Given the description of an element on the screen output the (x, y) to click on. 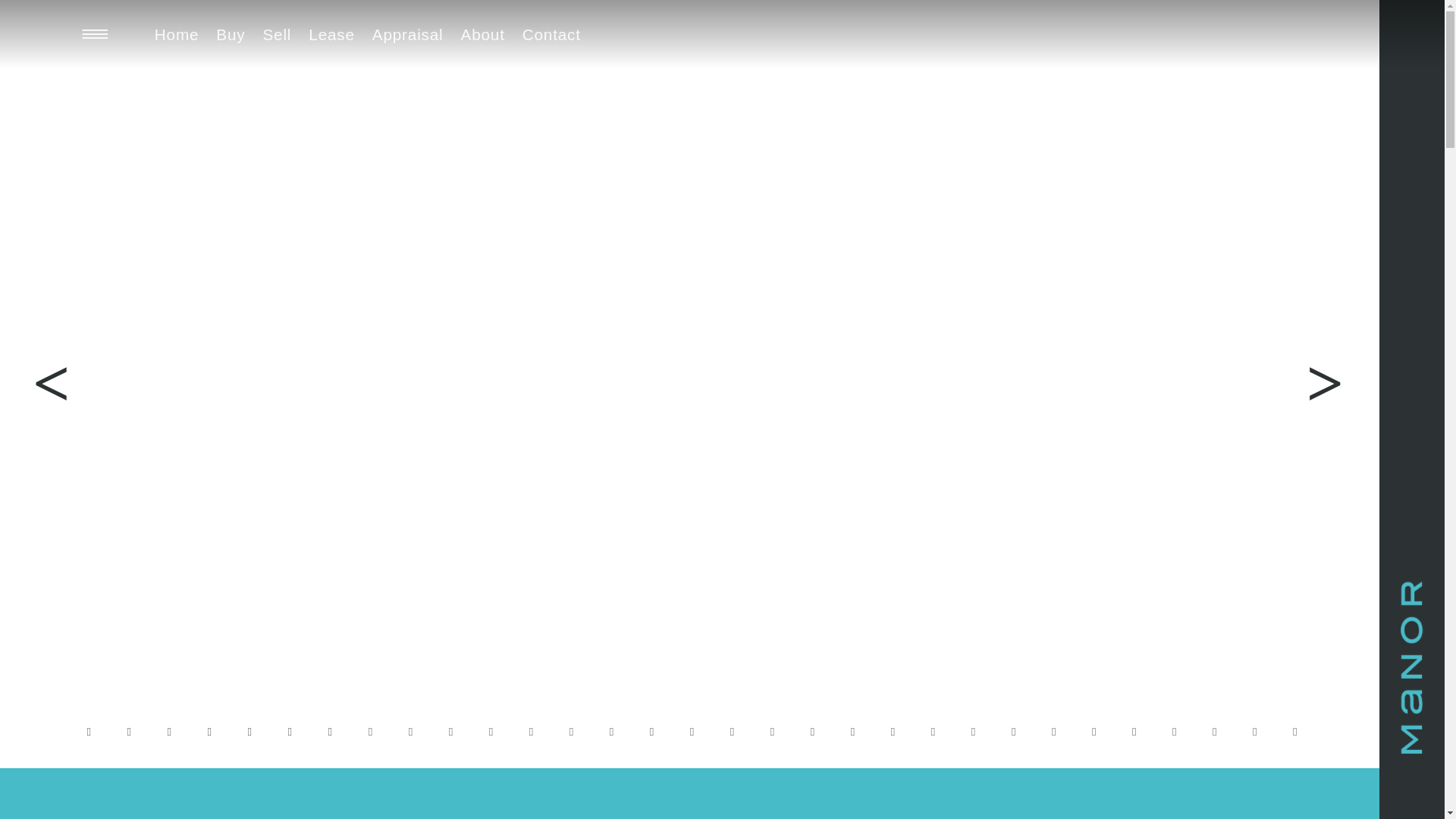
Buy (230, 34)
Sell (277, 34)
Lease (331, 34)
Home (177, 34)
About (483, 34)
Contact (551, 34)
Send Message (722, 449)
Appraisal (407, 34)
